Given the description of an element on the screen output the (x, y) to click on. 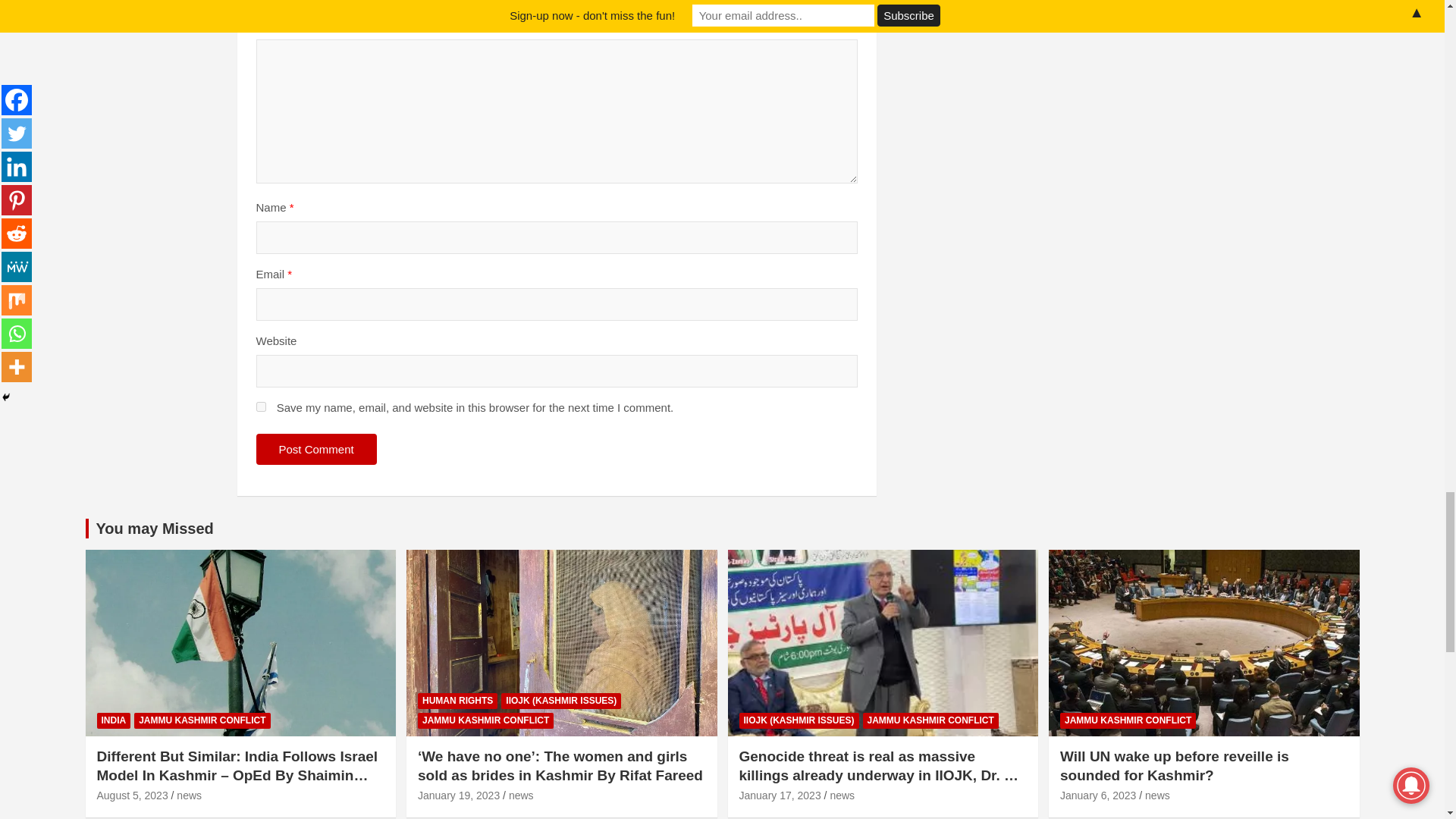
yes (261, 406)
Post Comment (316, 449)
